Given the description of an element on the screen output the (x, y) to click on. 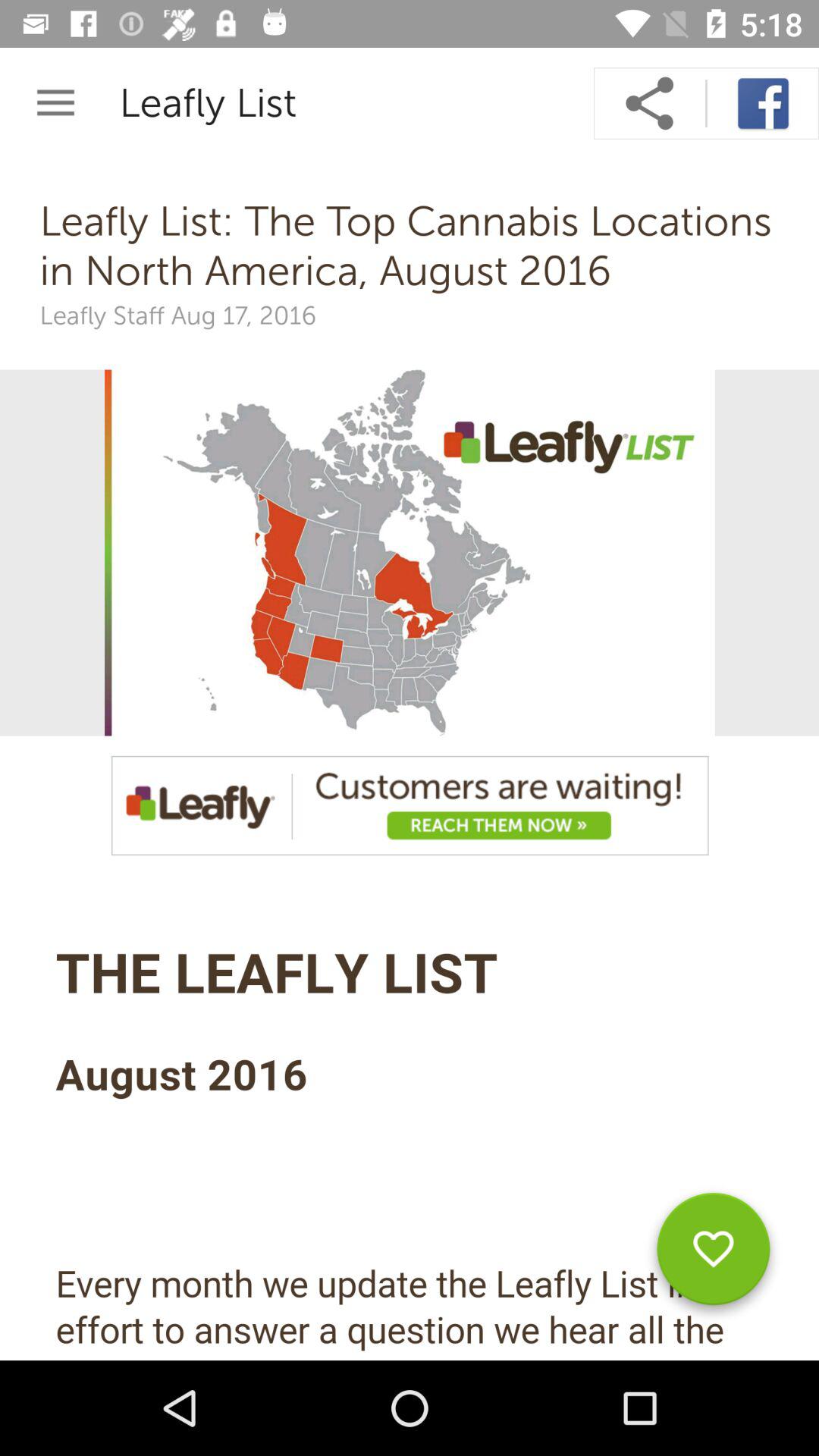
add to favorite (713, 1254)
